Given the description of an element on the screen output the (x, y) to click on. 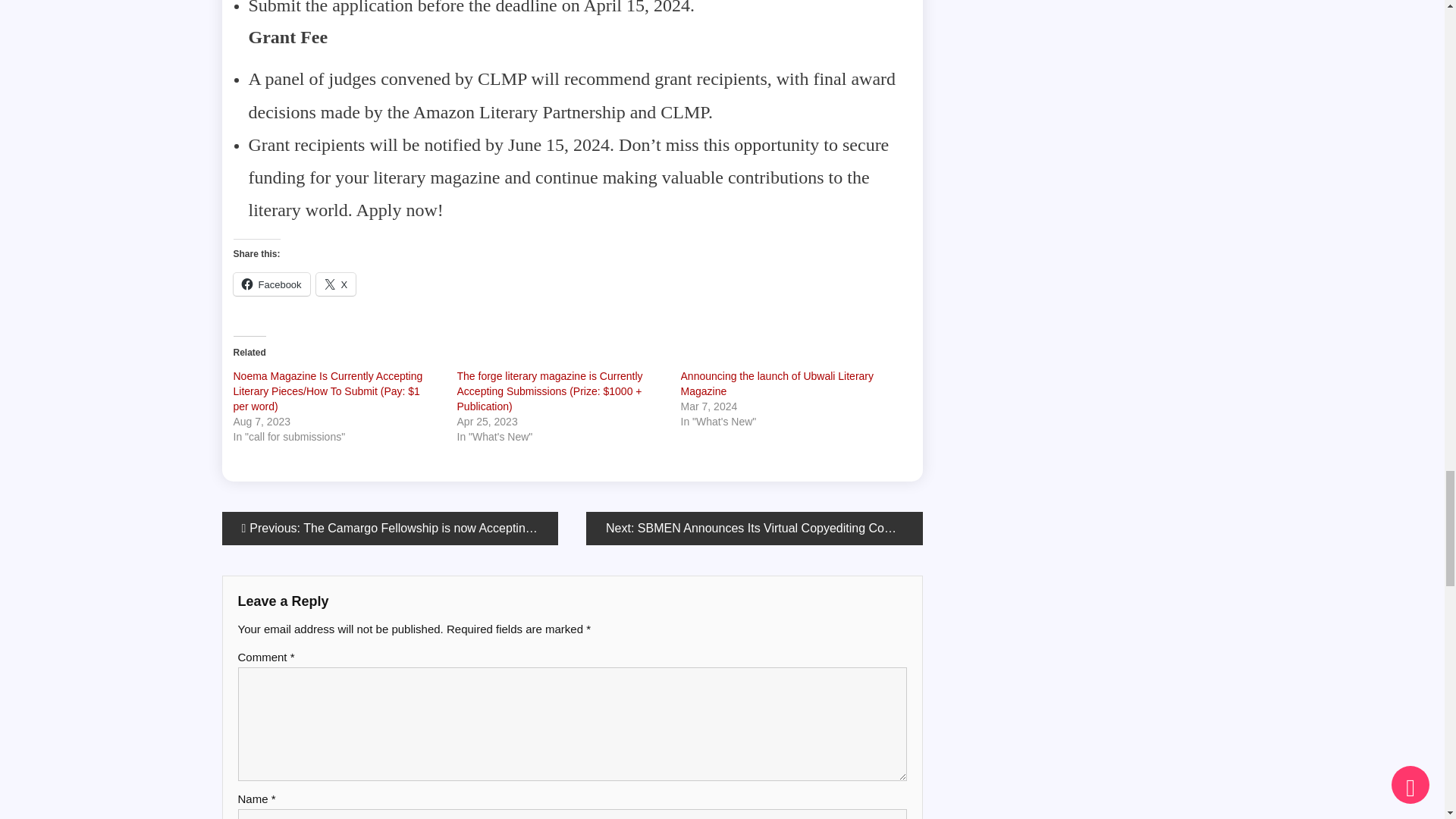
Click to share on X (335, 283)
Announcing the launch of Ubwali Literary Magazine (778, 383)
Click to share on Facebook (271, 283)
